Given the description of an element on the screen output the (x, y) to click on. 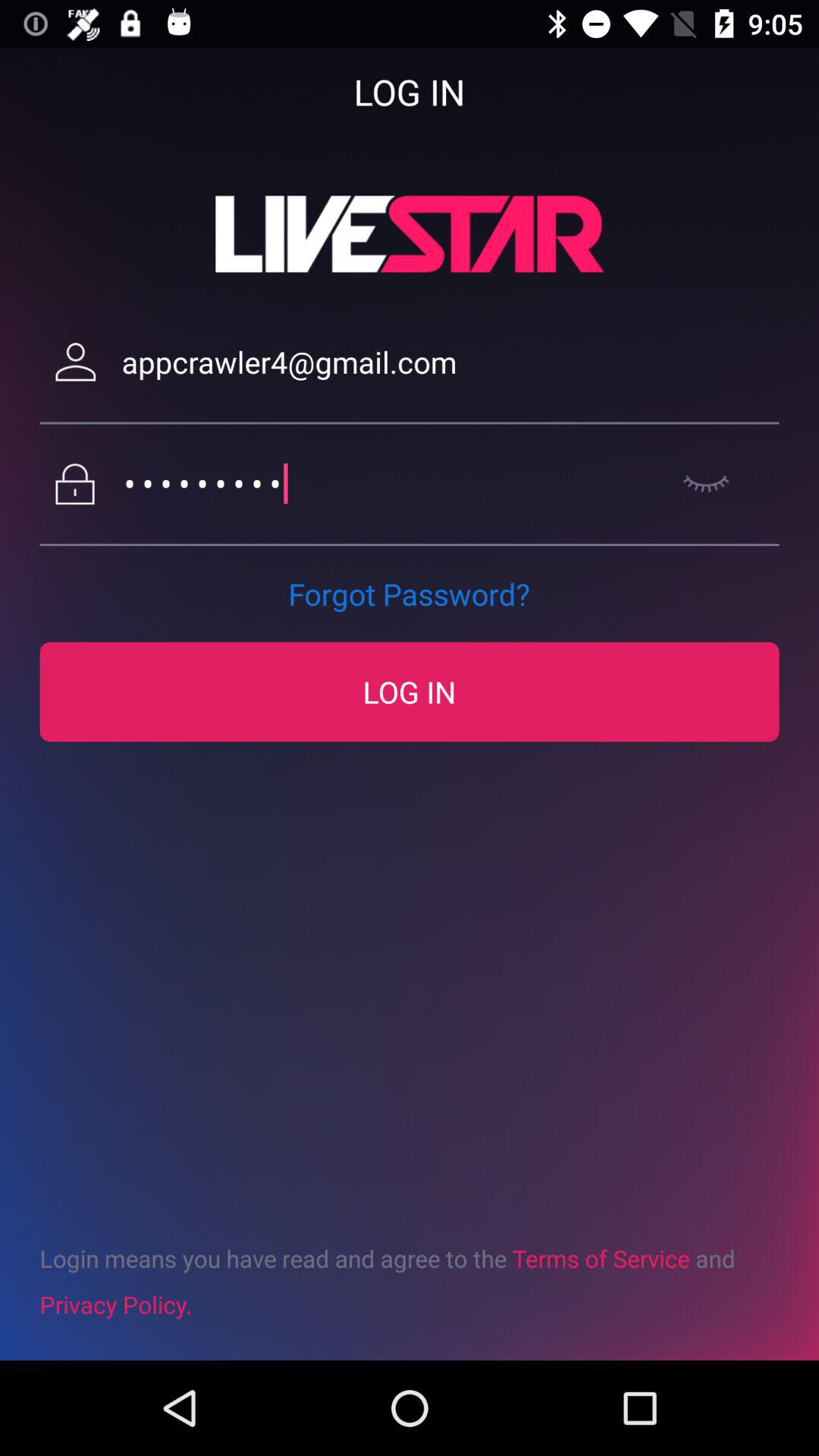
reveal password (706, 483)
